Given the description of an element on the screen output the (x, y) to click on. 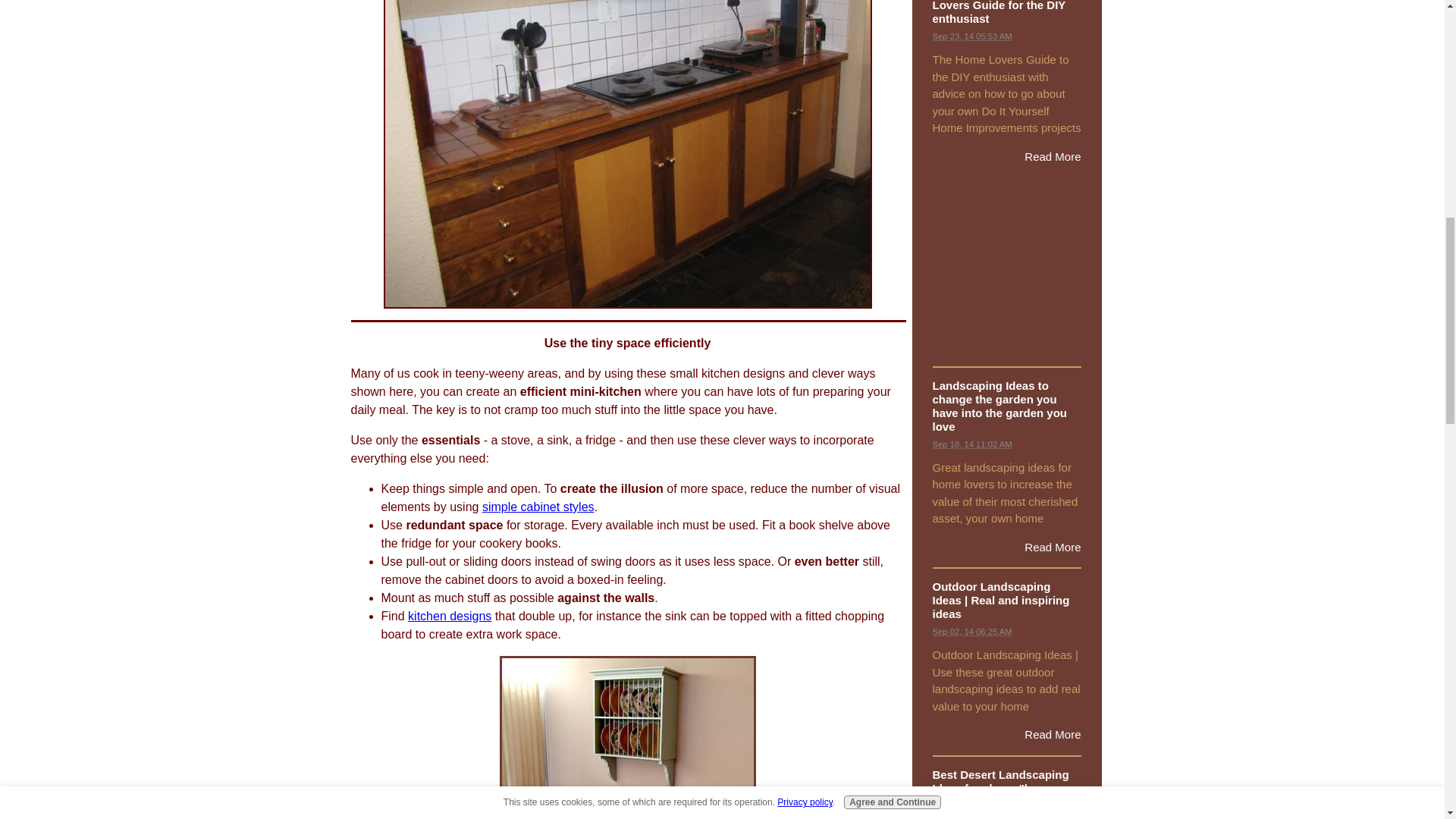
Read More (1052, 155)
2014-09-23T05:53:44-0400 (972, 35)
kitchen designs (449, 615)
2014-08-30T07:23:38-0400 (972, 816)
simple cabinet styles (537, 506)
Read More (1052, 546)
2014-09-18T11:02:46-0400 (972, 443)
2014-09-02T06:25:06-0400 (972, 631)
Read More (1052, 734)
